Given the description of an element on the screen output the (x, y) to click on. 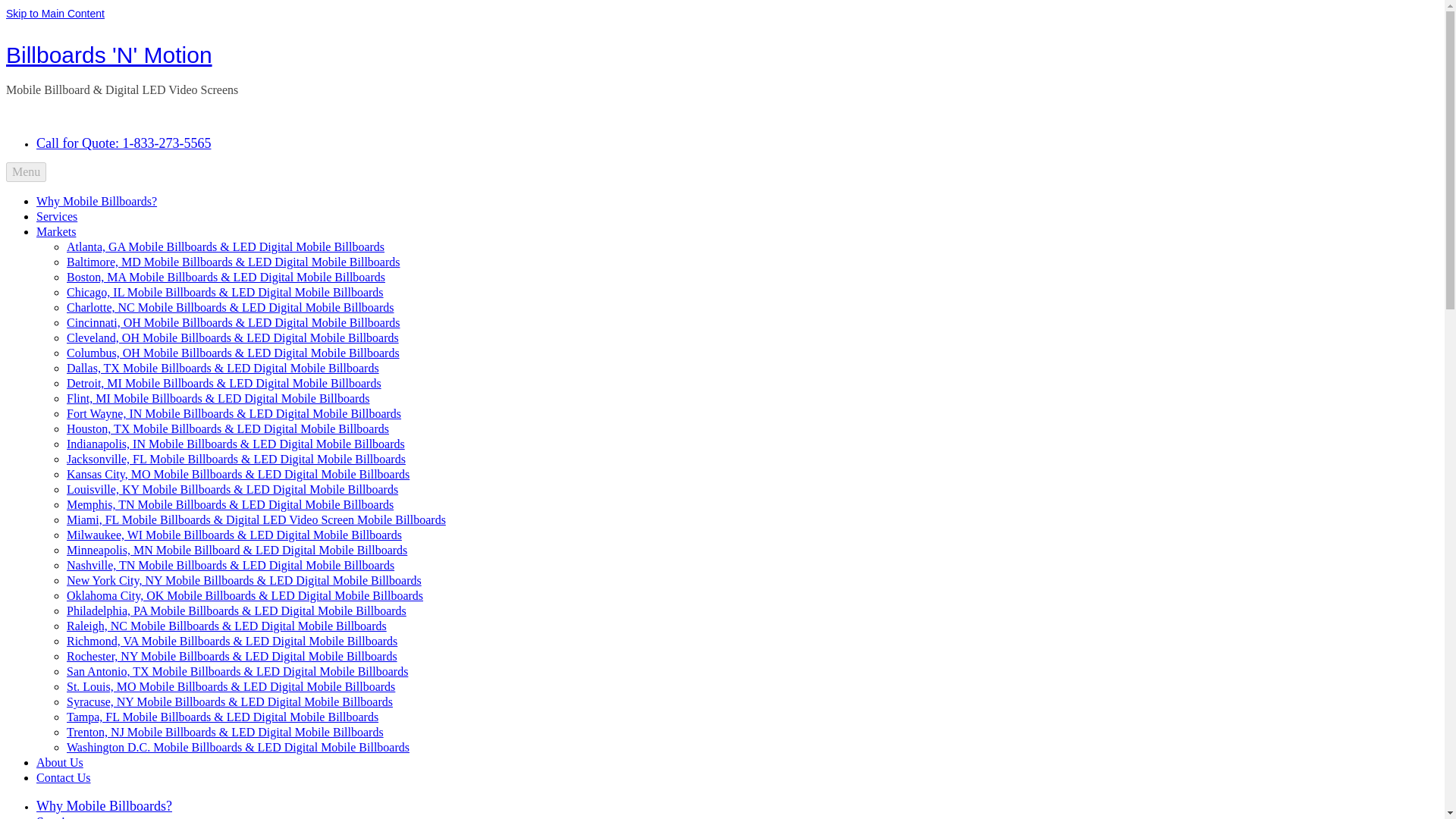
Why Mobile Billboards? (96, 201)
Call for Quote: 1-833-273-5565 (123, 142)
Services (56, 215)
Markets (55, 231)
Billboards 'N' Motion (108, 54)
Menu (25, 171)
Skip to Main Content (54, 13)
